Given the description of an element on the screen output the (x, y) to click on. 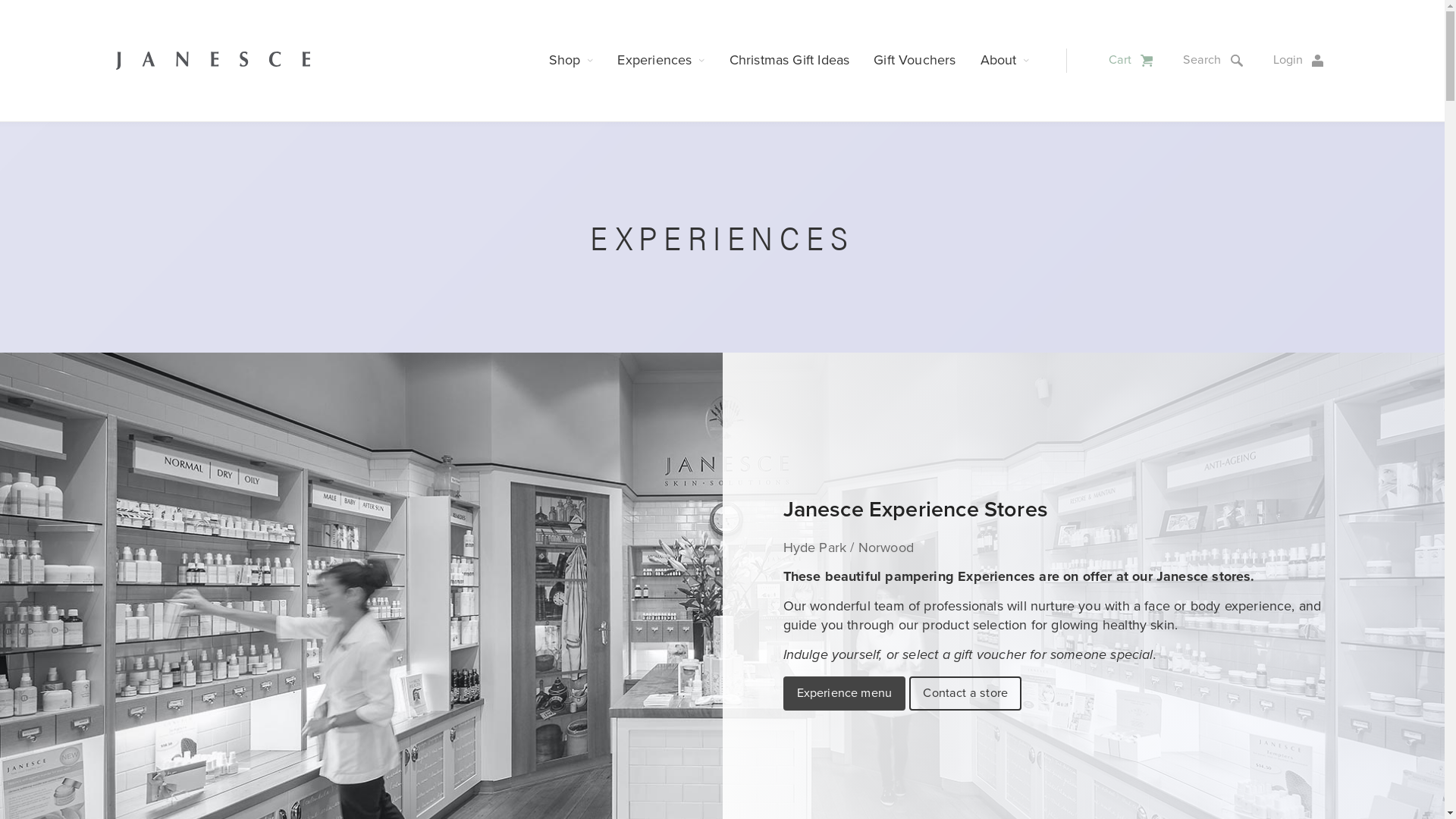
Login Element type: text (1300, 60)
About Element type: text (1004, 60)
Experience menu Element type: text (843, 693)
Shop Element type: text (570, 60)
Cart Element type: text (1133, 60)
Christmas Gift Ideas Element type: text (789, 60)
Gift Vouchers Element type: text (914, 60)
Janesce Experience Stores Element type: text (915, 509)
Search Element type: text (1215, 60)
Contact a store Element type: text (965, 693)
Hyde Park / Norwood Element type: text (847, 547)
Experiences Element type: text (660, 60)
